Given the description of an element on the screen output the (x, y) to click on. 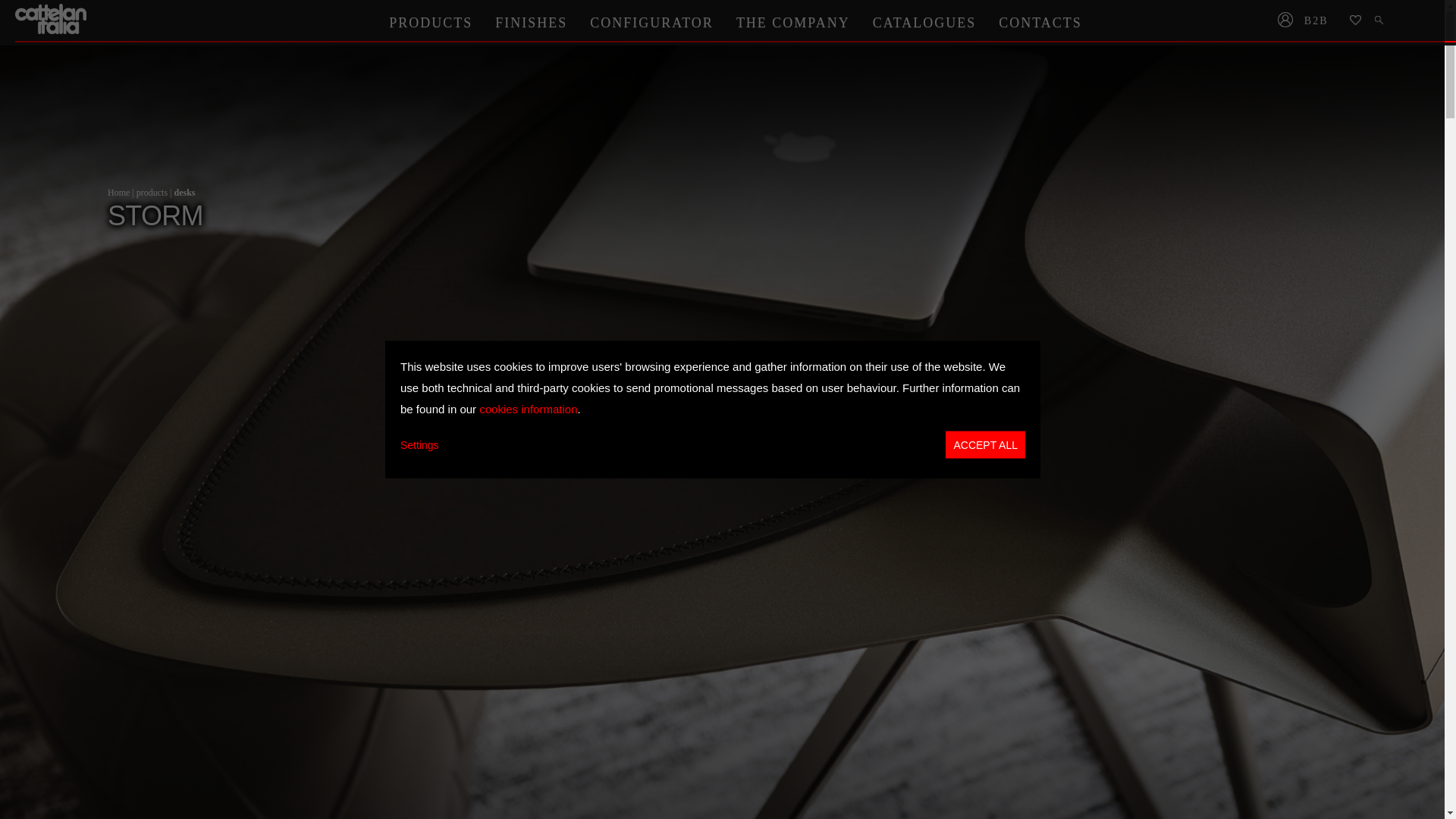
B2B (1321, 20)
DESKS (184, 192)
CONTACTS (1040, 22)
PRODUCTS (430, 22)
cookies information (527, 408)
FINISHES (530, 22)
products (151, 192)
CONFIGURATOR (651, 22)
products (151, 192)
Search... (1381, 20)
Cookies information (527, 408)
Cattelan Italia (52, 19)
Settings (419, 444)
CATALOGUES (924, 22)
THE COMPANY (793, 22)
